Given the description of an element on the screen output the (x, y) to click on. 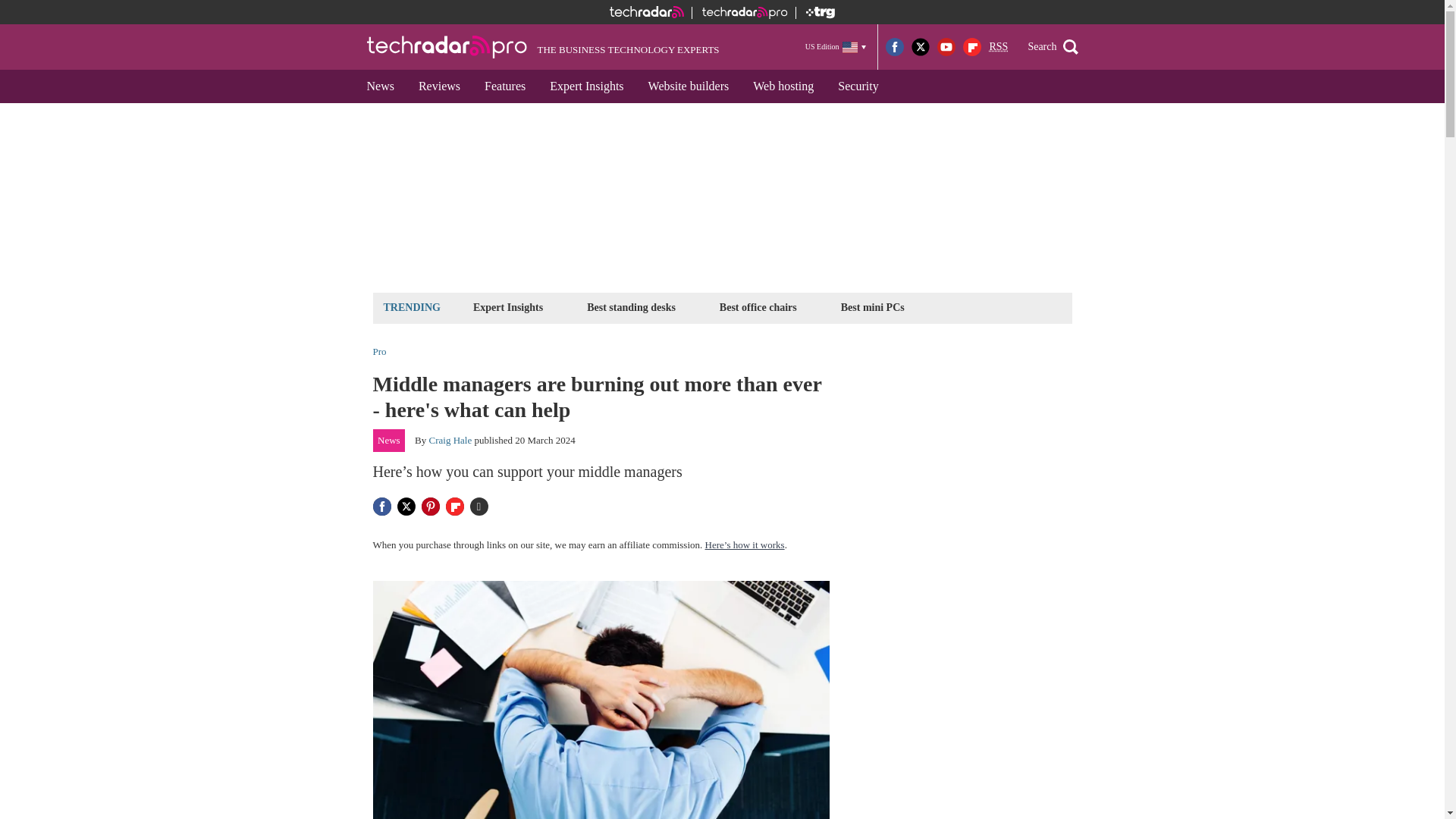
Best standing desks (630, 307)
US Edition (836, 46)
Reviews (438, 86)
Best office chairs (758, 307)
Expert Insights (585, 86)
Really Simple Syndication (997, 46)
News (380, 86)
Website builders (688, 86)
Web hosting (783, 86)
Features (504, 86)
THE BUSINESS TECHNOLOGY EXPERTS (542, 46)
Security (857, 86)
RSS (997, 46)
Expert Insights (507, 307)
